Given the description of an element on the screen output the (x, y) to click on. 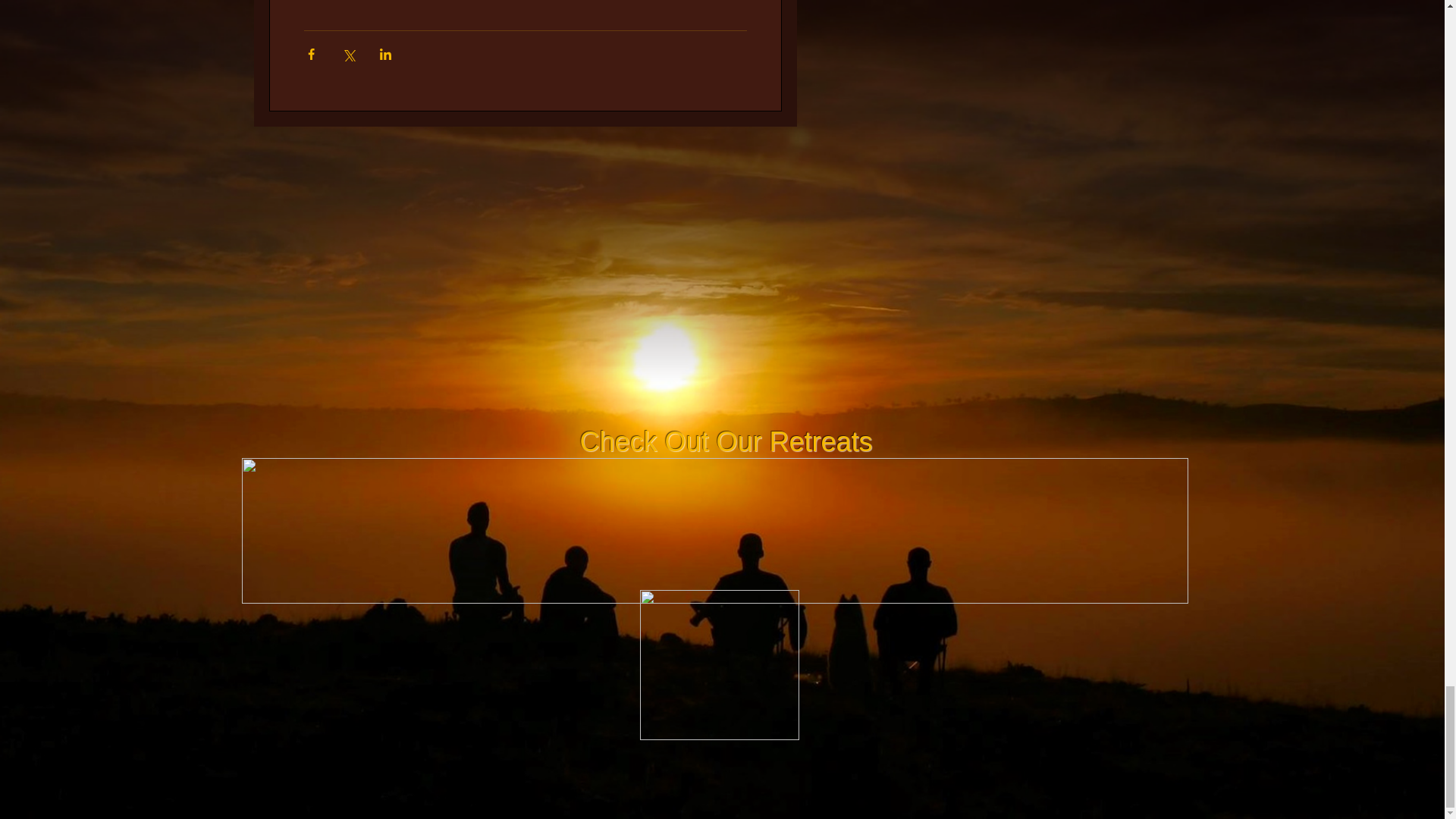
External YouTube (725, 270)
